Given the description of an element on the screen output the (x, y) to click on. 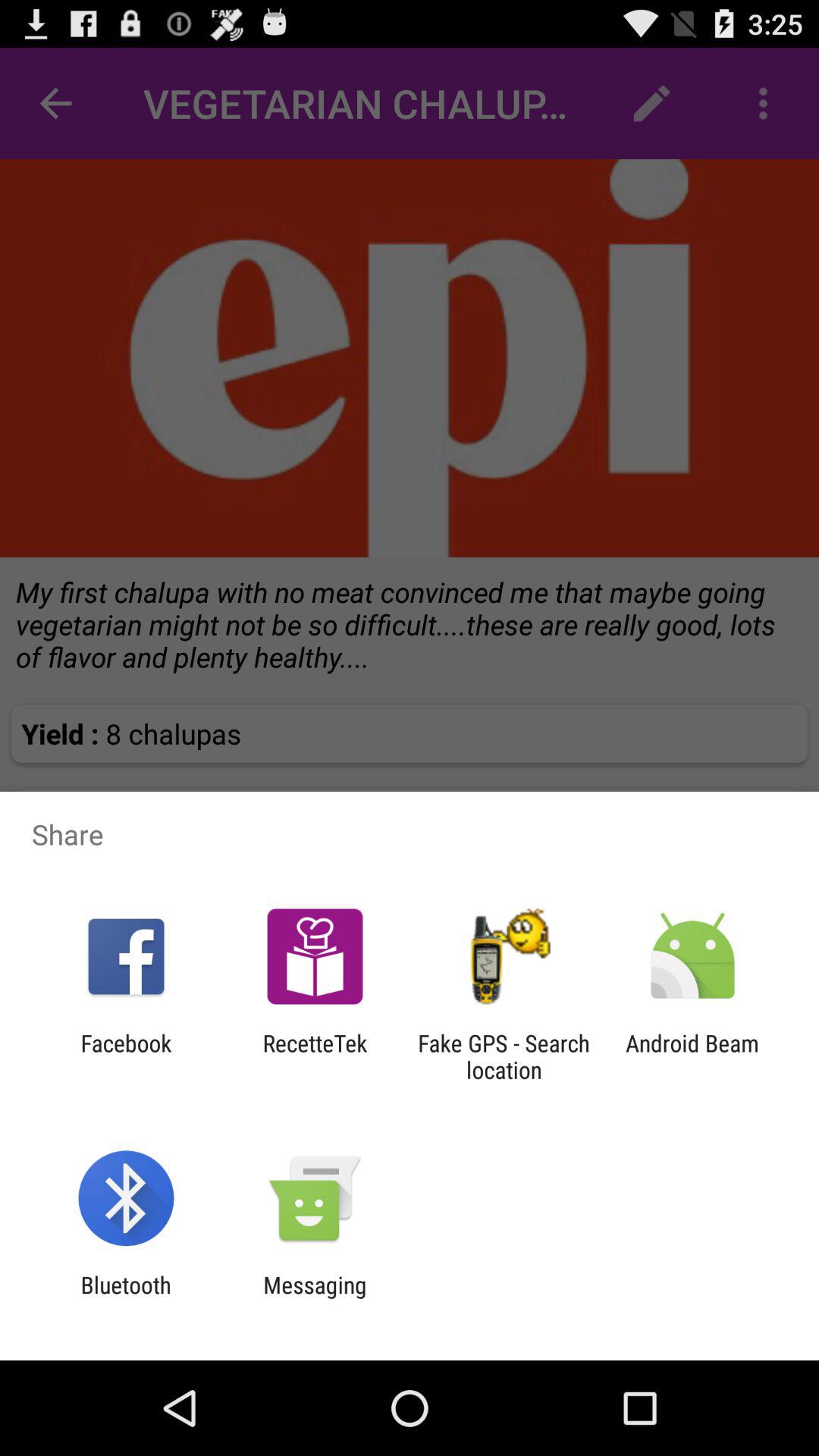
turn off app next to the bluetooth icon (314, 1298)
